Given the description of an element on the screen output the (x, y) to click on. 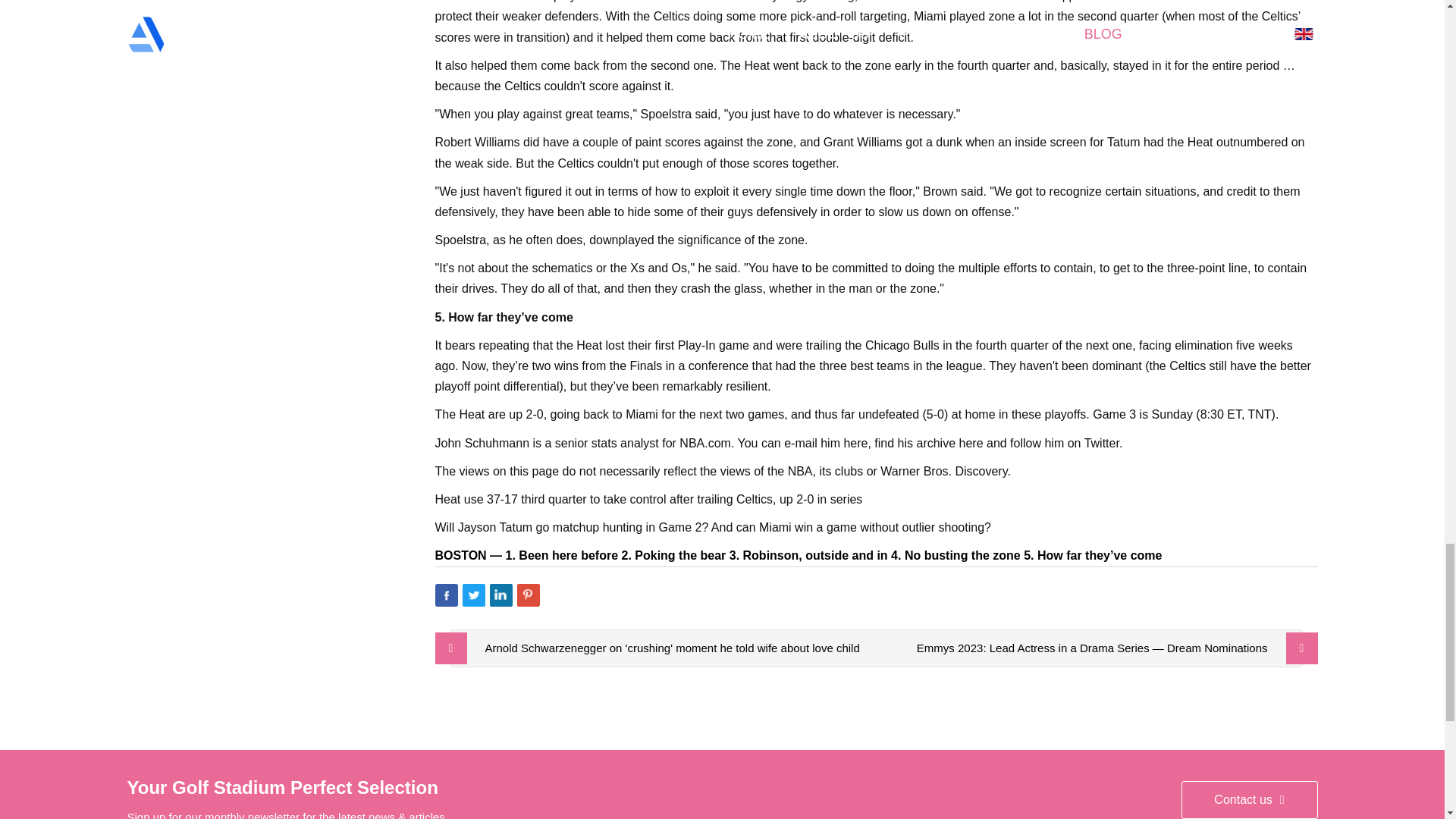
Twitter (473, 594)
Pinterest (528, 594)
Print (555, 594)
Facebook (446, 594)
Linkedin (500, 594)
Contact us (1248, 800)
